Given the description of an element on the screen output the (x, y) to click on. 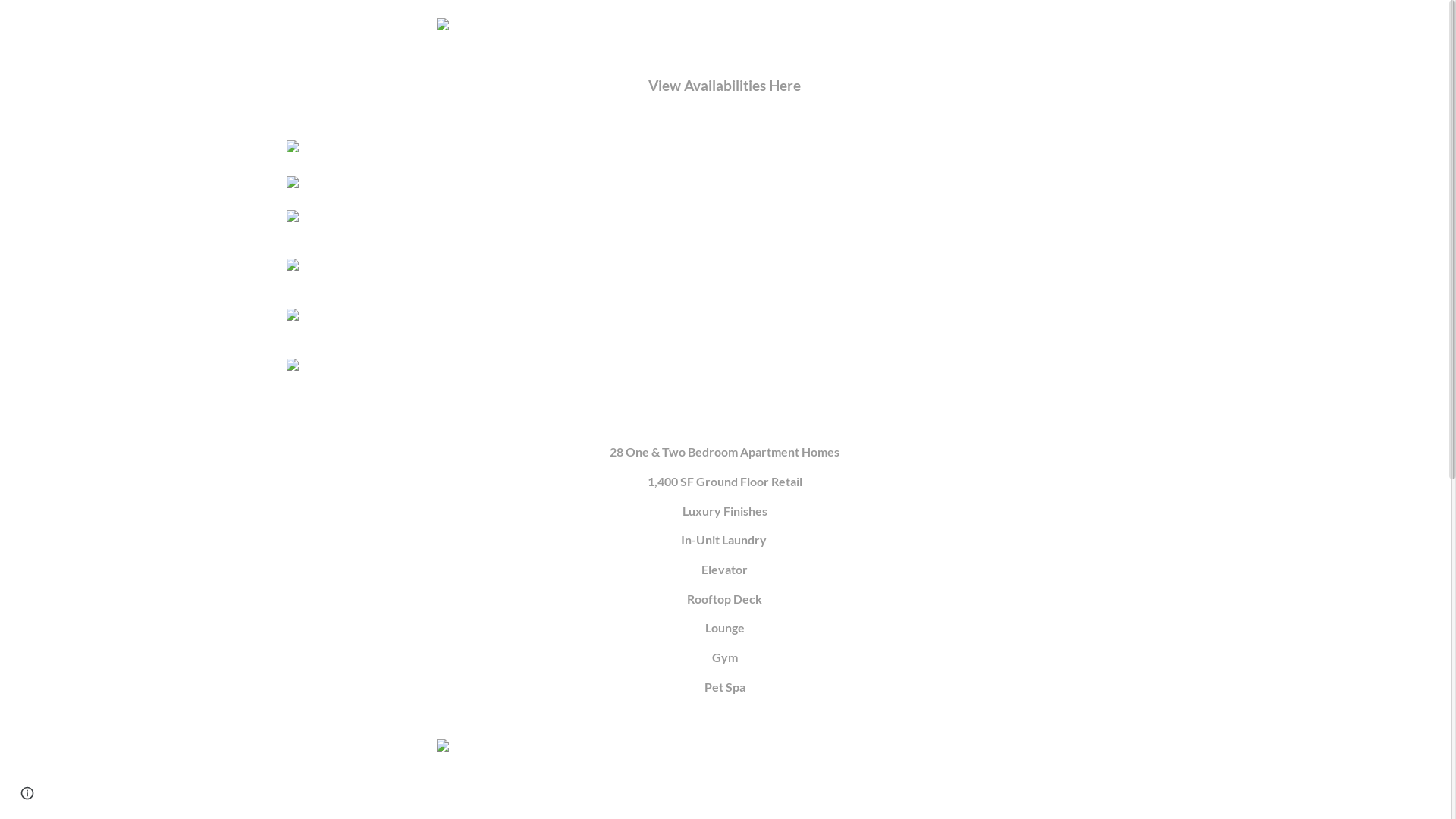
View Availabilities Here Element type: text (724, 86)
